Given the description of an element on the screen output the (x, y) to click on. 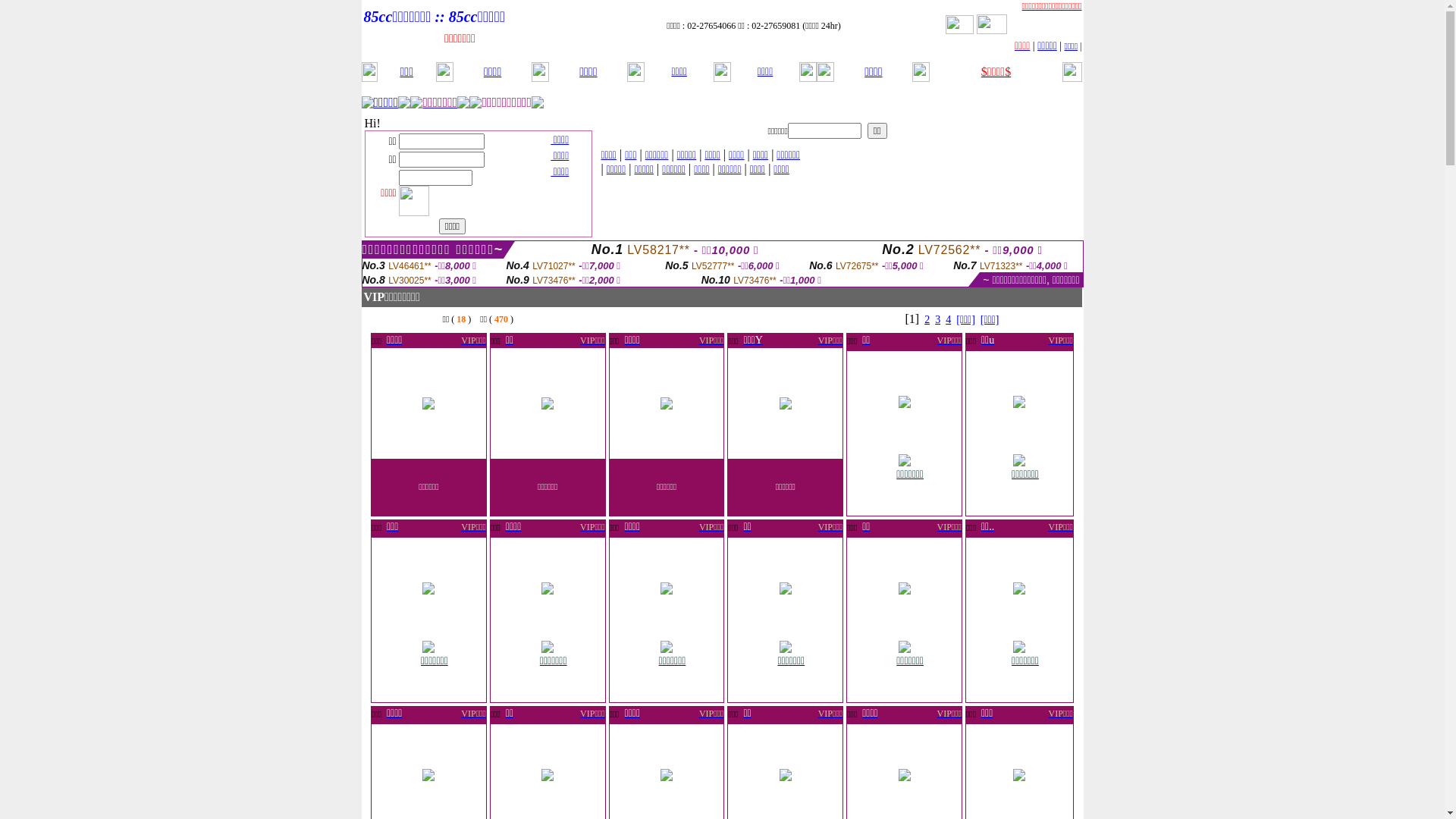
3 Element type: text (937, 319)
2 Element type: text (926, 319)
4 Element type: text (947, 319)
